Given the description of an element on the screen output the (x, y) to click on. 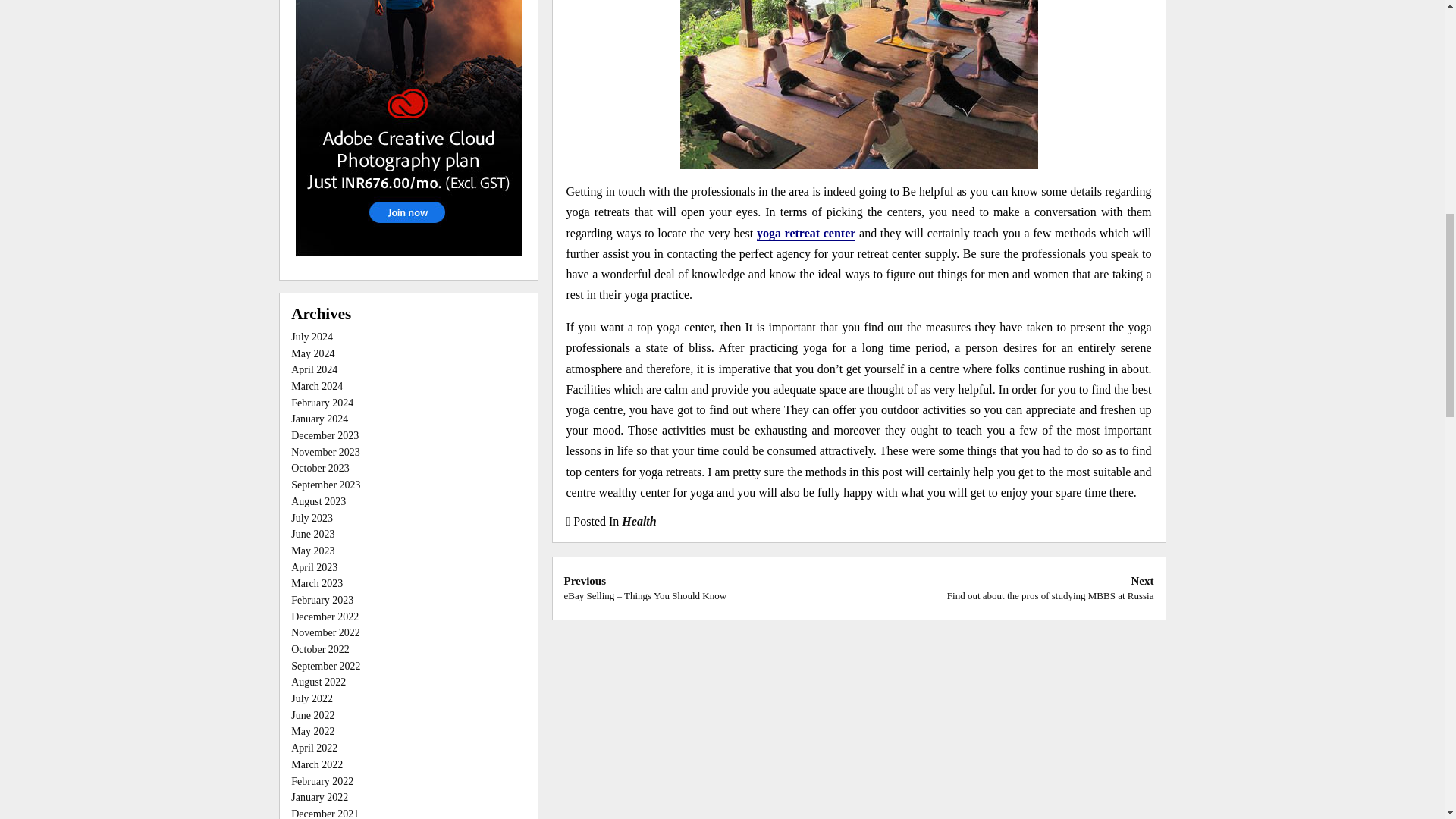
May 2024 (312, 353)
January 2024 (319, 419)
October 2022 (320, 649)
May 2023 (312, 550)
December 2022 (324, 616)
September 2022 (325, 665)
July 2023 (312, 518)
March 2023 (316, 583)
August 2023 (1050, 587)
